Given the description of an element on the screen output the (x, y) to click on. 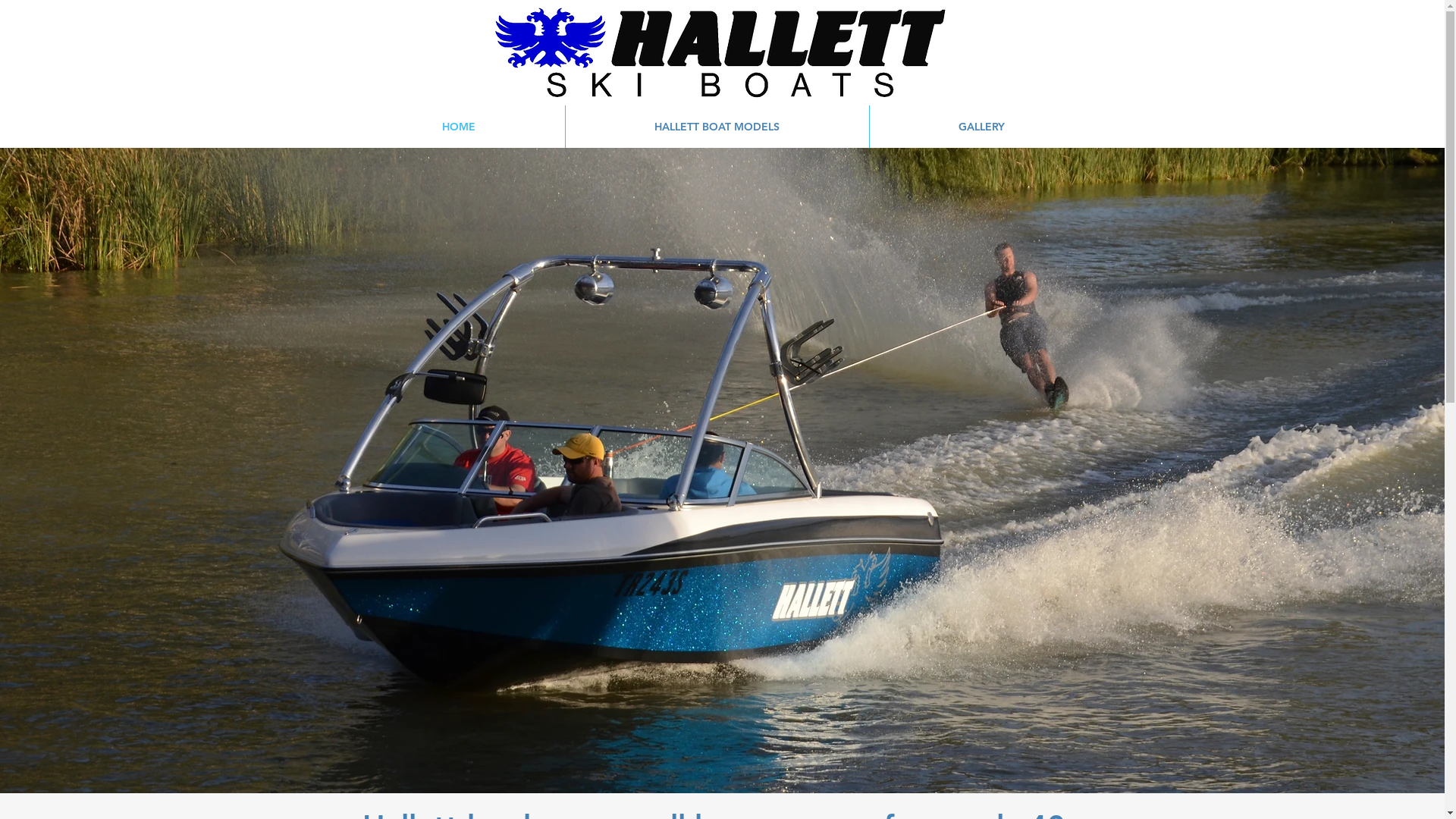
GALLERY Element type: text (981, 126)
HOME Element type: text (458, 126)
HALLETT BOAT MODELS Element type: text (717, 126)
